Given the description of an element on the screen output the (x, y) to click on. 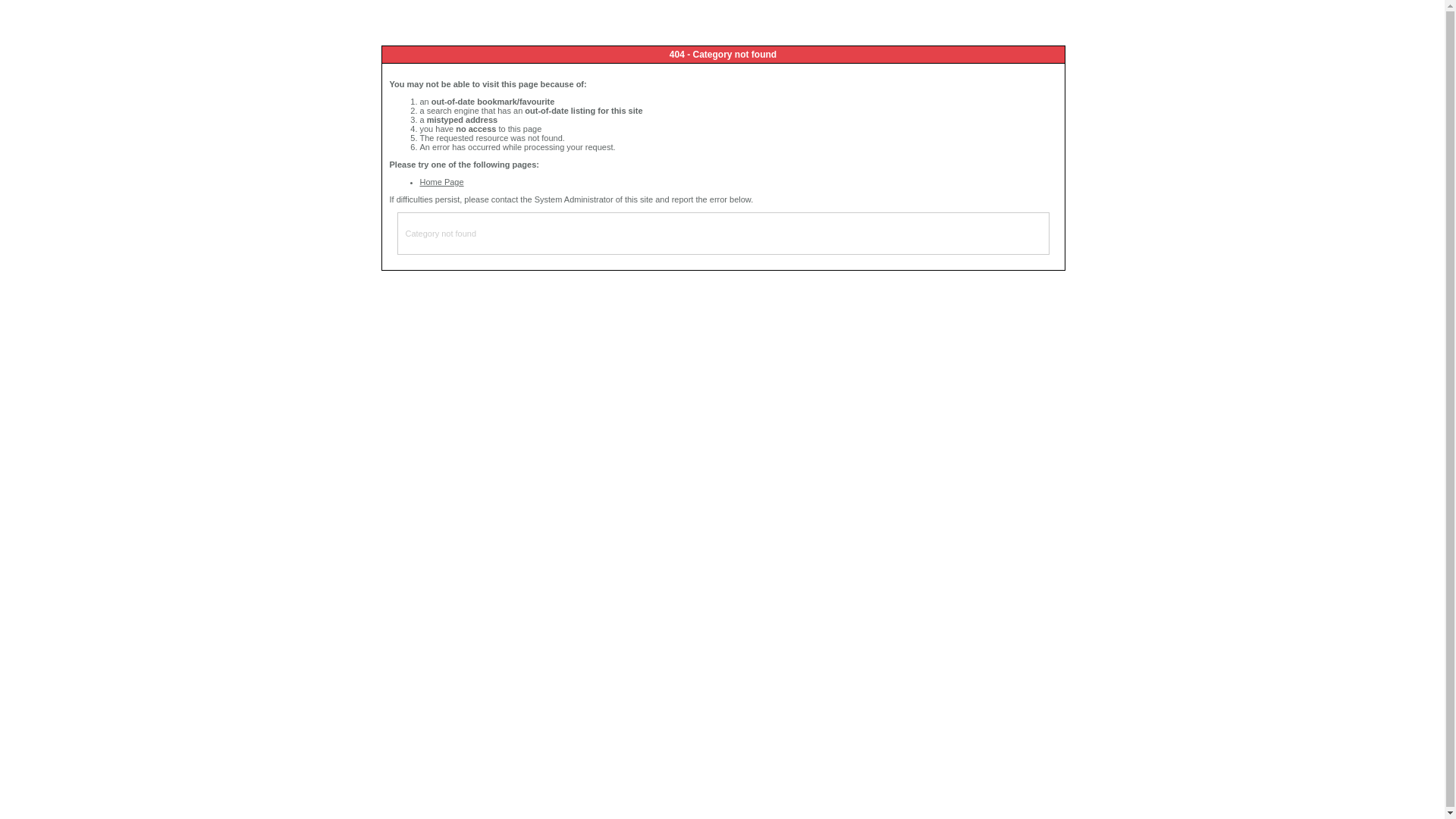
Home Page Element type: text (442, 181)
